Given the description of an element on the screen output the (x, y) to click on. 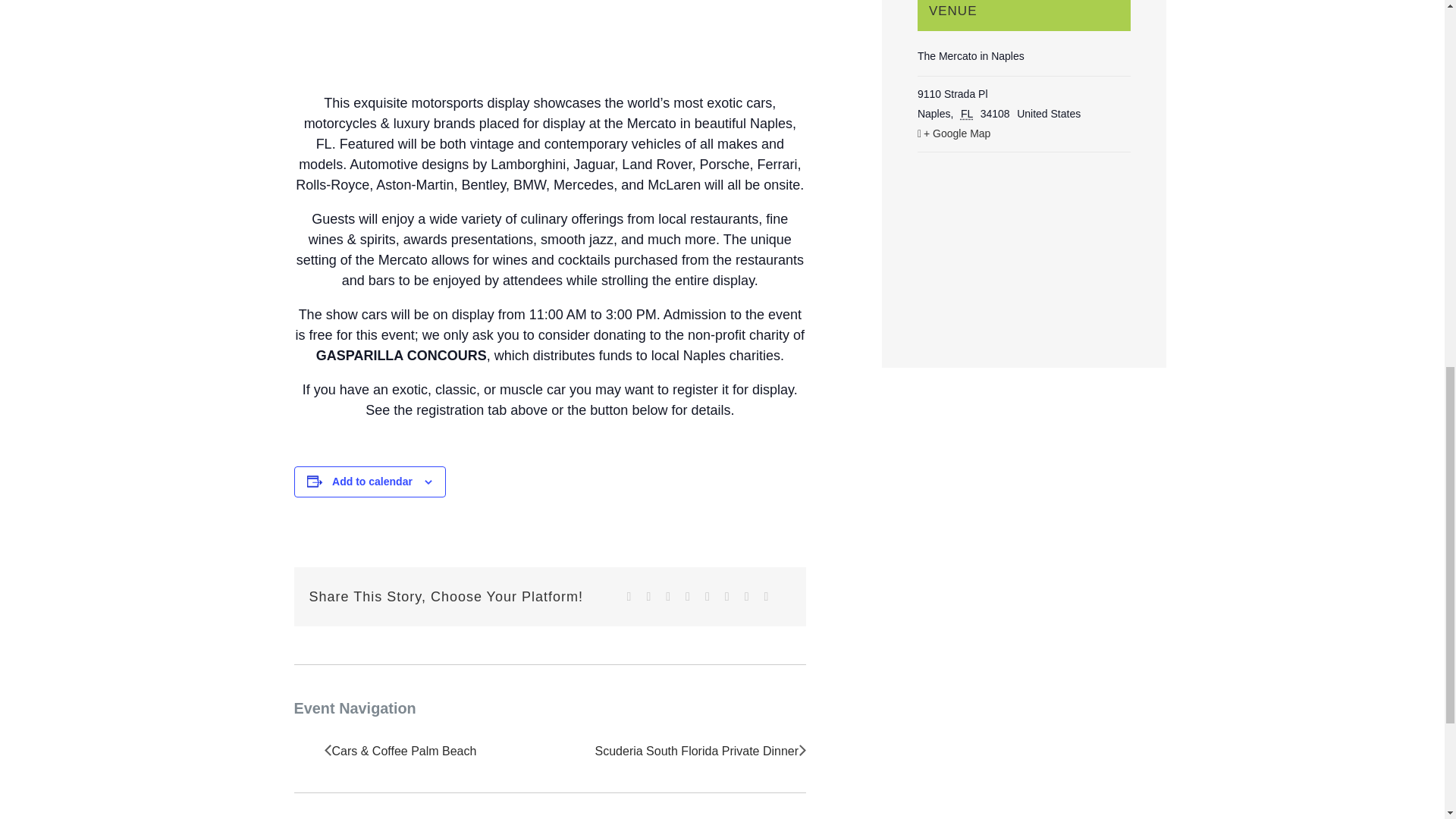
Click to view a Google Map (1024, 133)
Florida (968, 113)
Mercato Shops in Naples (550, 25)
Add to calendar (371, 481)
